Given the description of an element on the screen output the (x, y) to click on. 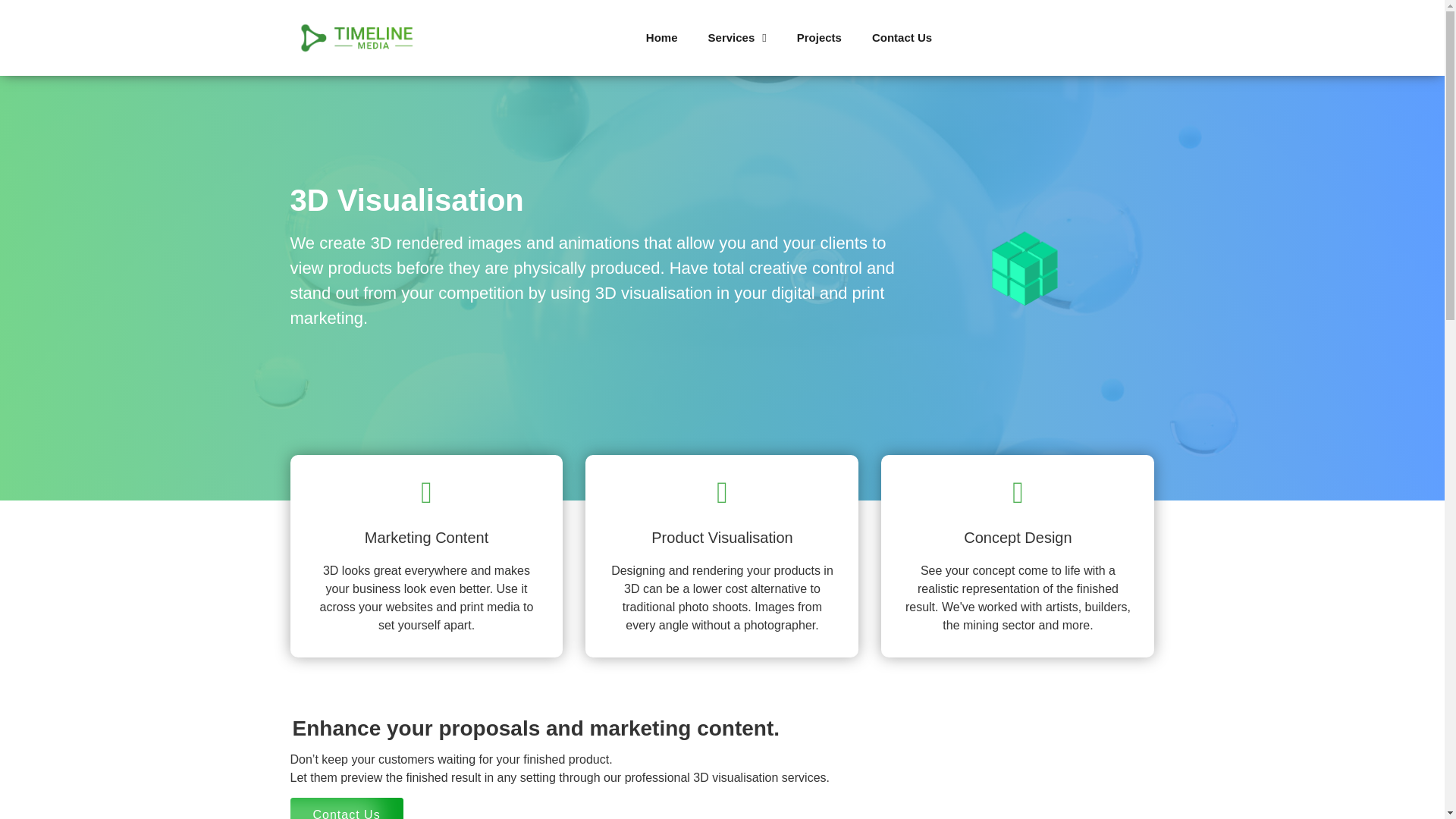
Contact Us (346, 808)
Projects (819, 38)
Contact Us (902, 38)
Services (737, 38)
